Given the description of an element on the screen output the (x, y) to click on. 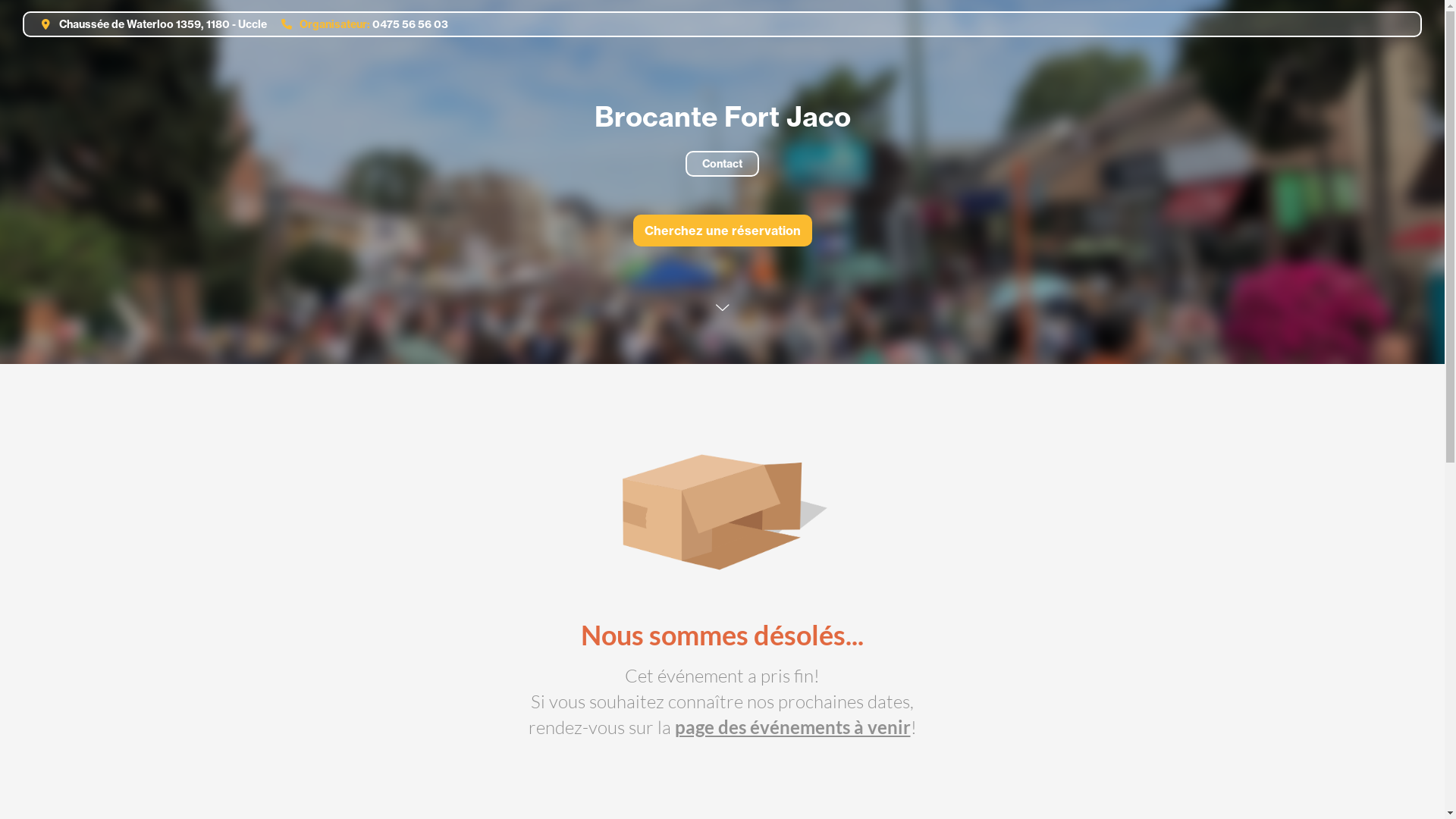
Contact Element type: text (722, 163)
Organisateur: 0475 56 56 03 Element type: text (358, 24)
